Given the description of an element on the screen output the (x, y) to click on. 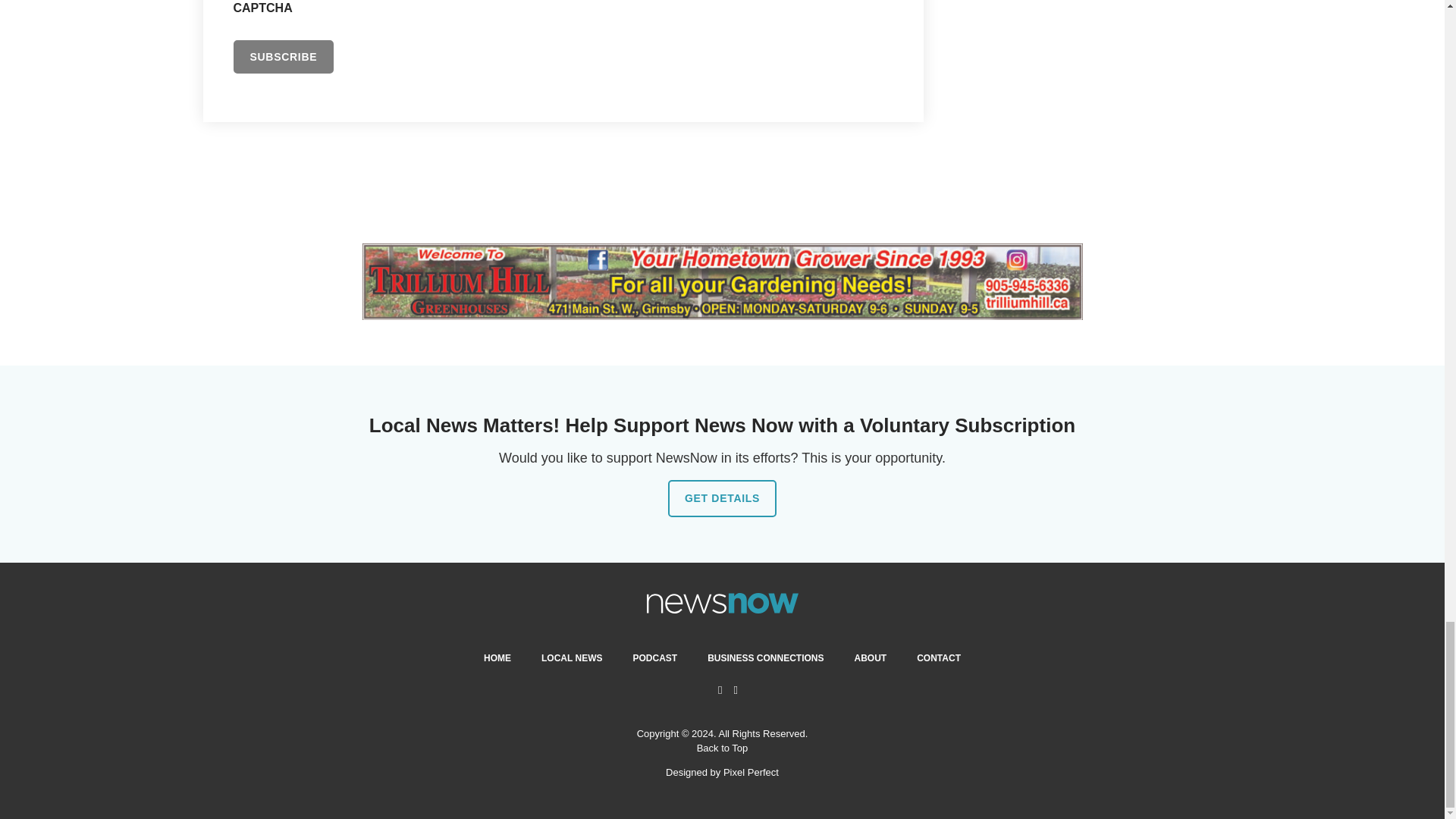
Subscribe (283, 56)
